Given the description of an element on the screen output the (x, y) to click on. 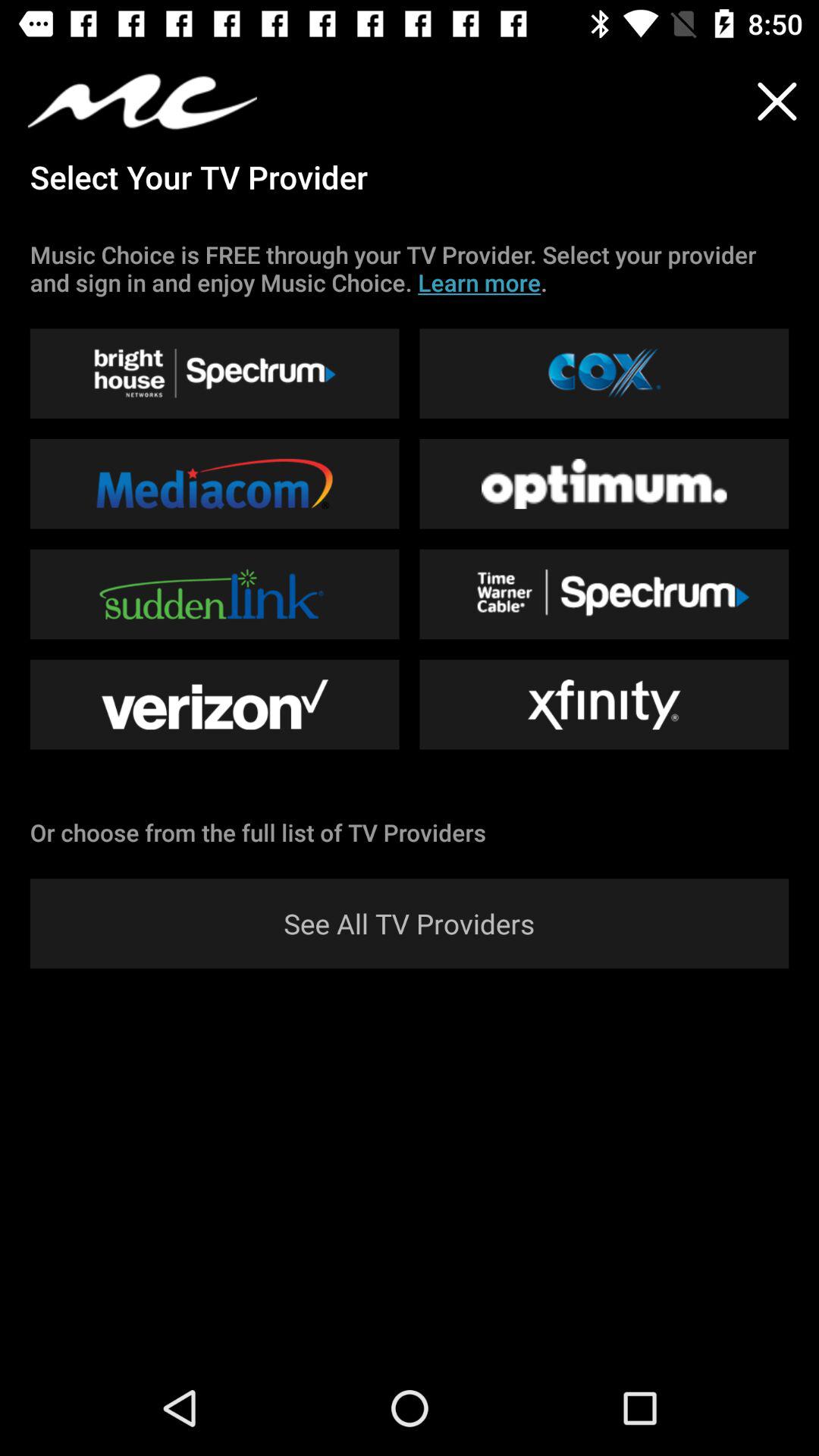
click on the icon which is above the text select your tv provider (142, 100)
click on the option beside suddenlink option (604, 594)
click on the button left to optimum (214, 484)
click on the button which is left side of the xfinity (214, 704)
select the cross icon which is on top right of the page (777, 100)
click on the text which is below the text which says select your provider (409, 268)
